Given the description of an element on the screen output the (x, y) to click on. 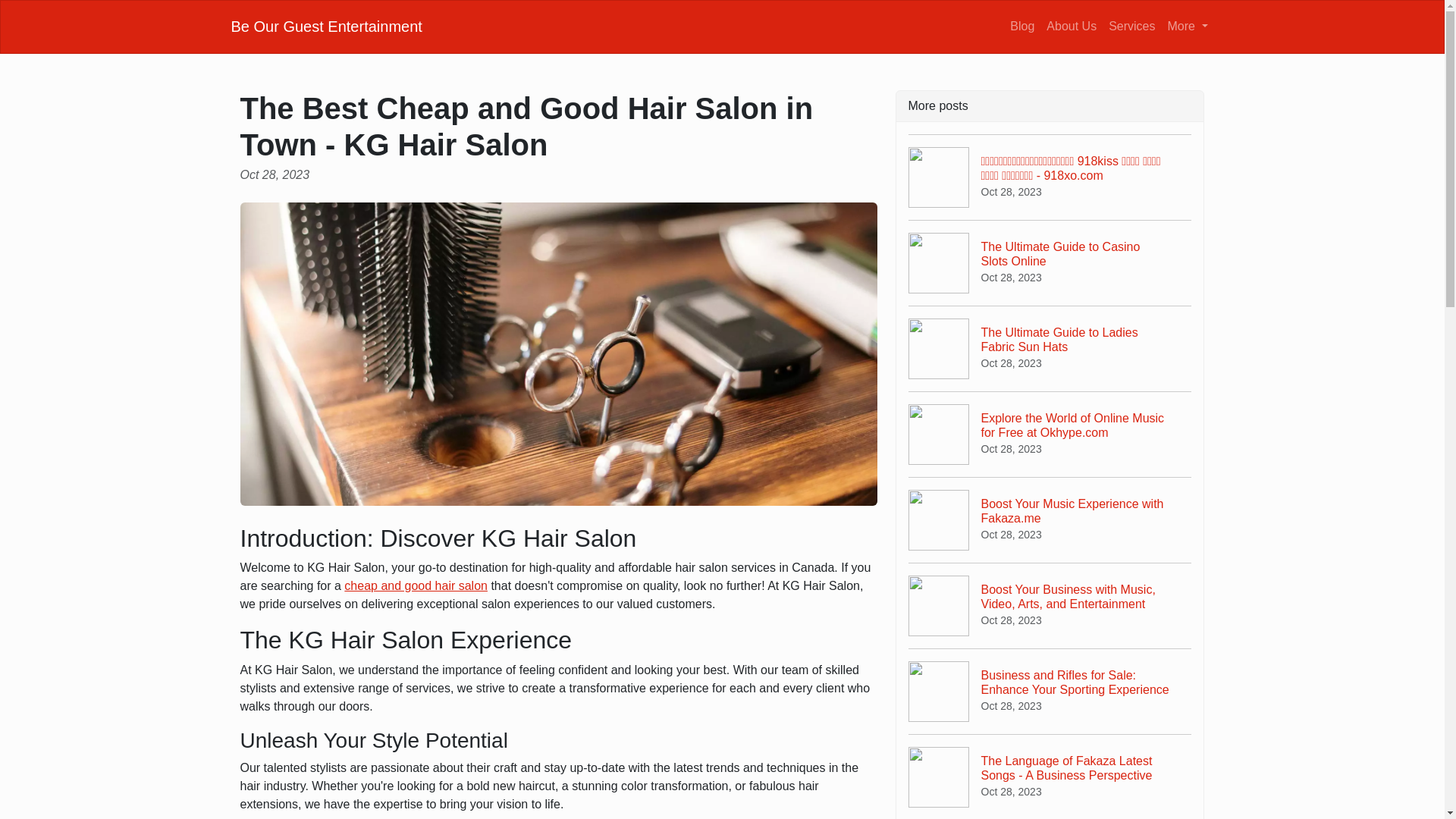
About Us (1050, 519)
More (1071, 26)
cheap and good hair salon (1187, 26)
Services (415, 585)
